Given the description of an element on the screen output the (x, y) to click on. 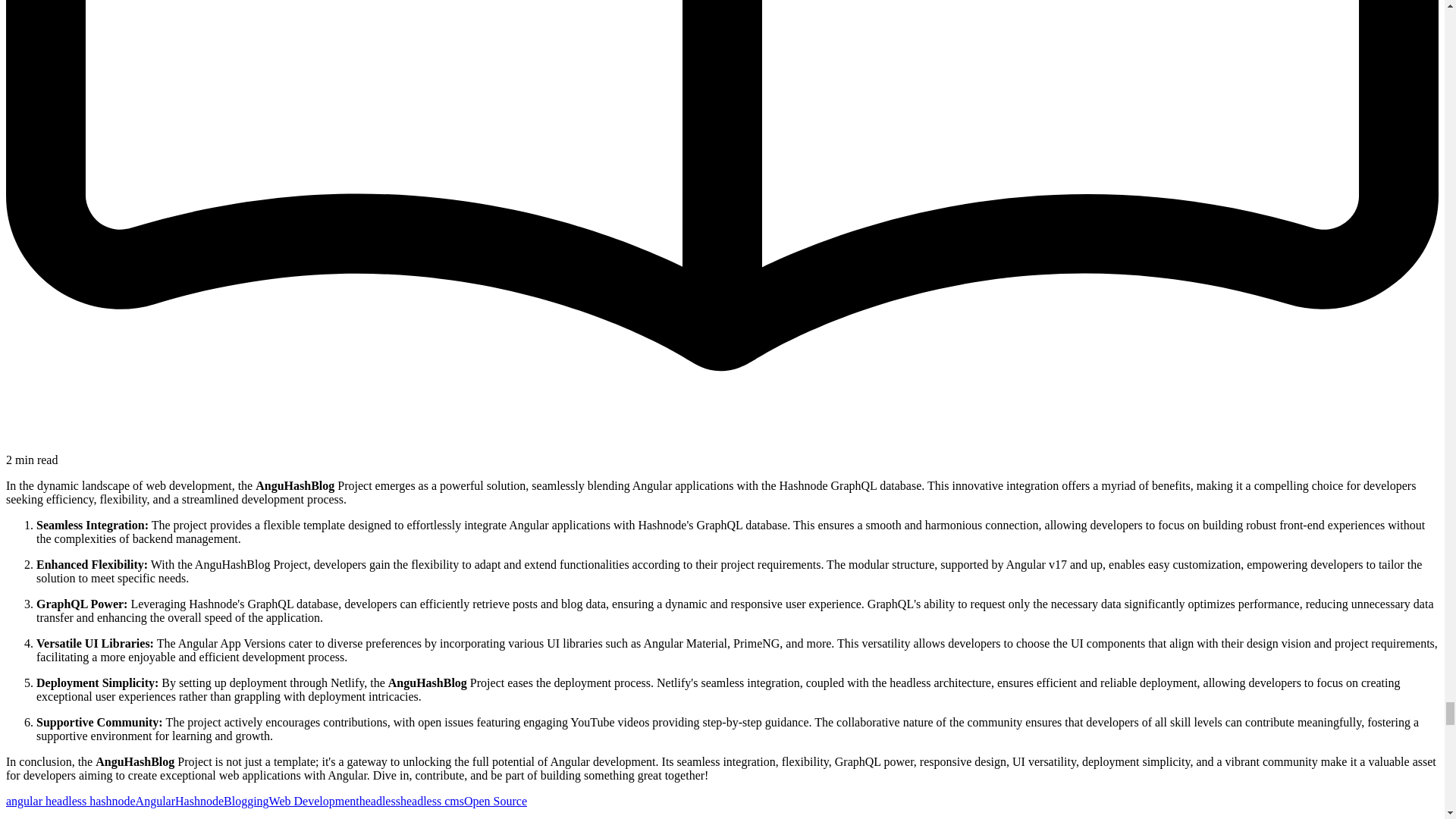
angular headless hashnode (70, 800)
Blogging (246, 800)
Hashnode (199, 800)
Open Source (495, 800)
Angular (154, 800)
Web Development (314, 800)
headless (379, 800)
headless cms (432, 800)
